Given the description of an element on the screen output the (x, y) to click on. 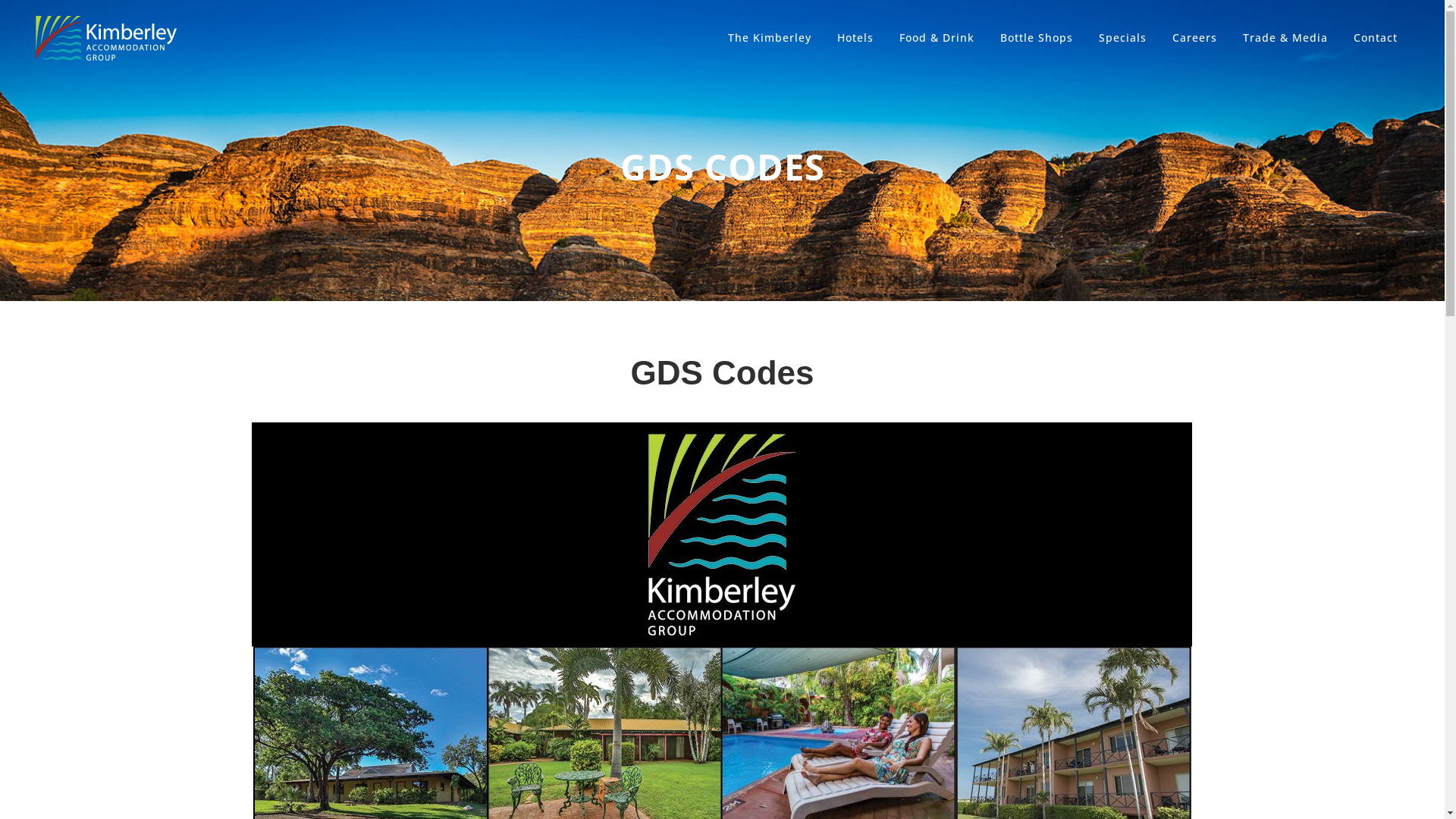
Bottle Shops Element type: text (1036, 37)
Specials Element type: text (1122, 37)
The Kimberley Element type: text (769, 37)
Hotels Element type: text (855, 37)
Contact Element type: text (1375, 37)
Food & Drink Element type: text (936, 37)
Trade & Media Element type: text (1285, 37)
Careers Element type: text (1194, 37)
